Given the description of an element on the screen output the (x, y) to click on. 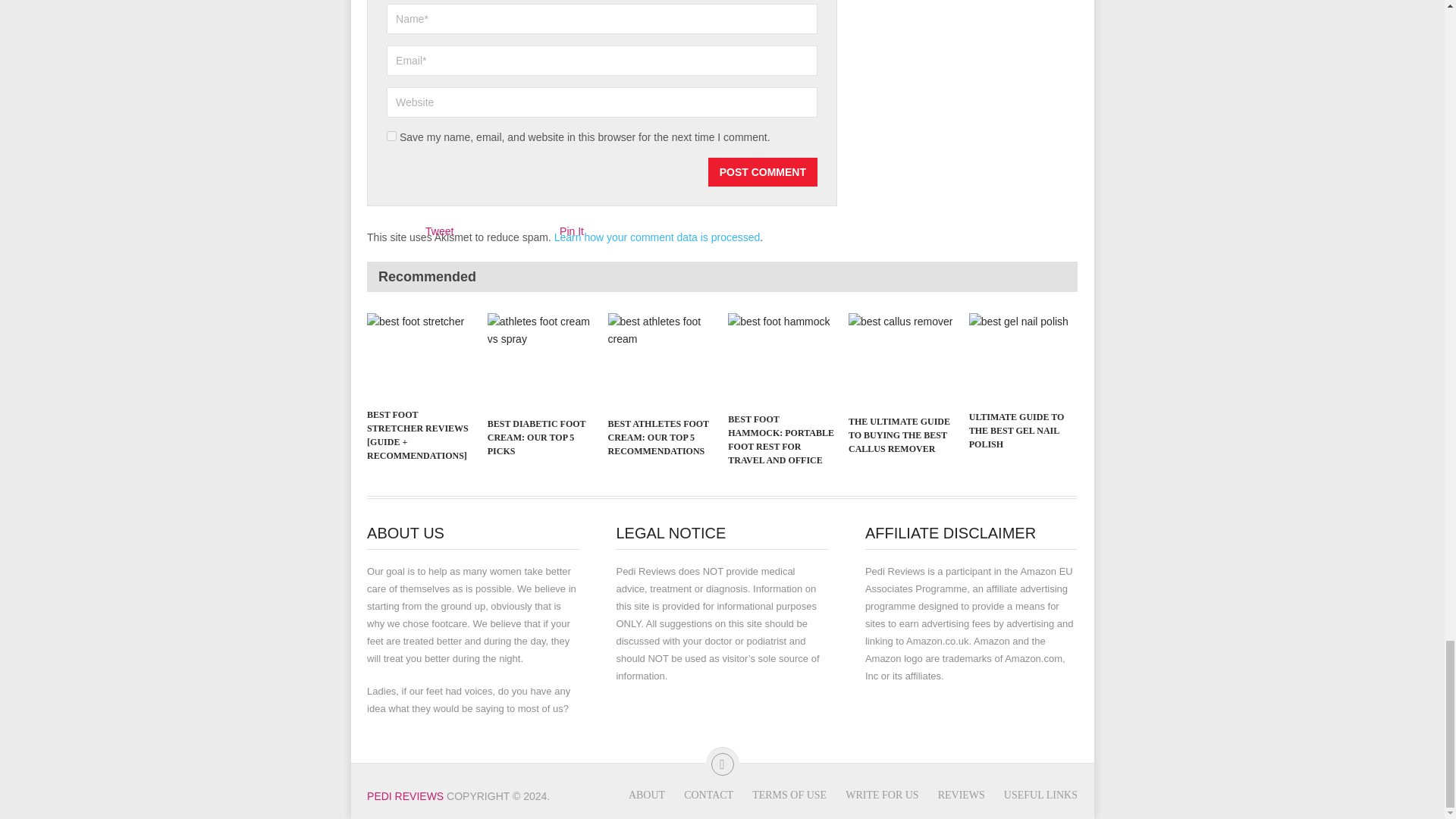
Post Comment (761, 172)
Learn how your comment data is processed (657, 236)
Post Comment (761, 172)
yes (391, 135)
